Given the description of an element on the screen output the (x, y) to click on. 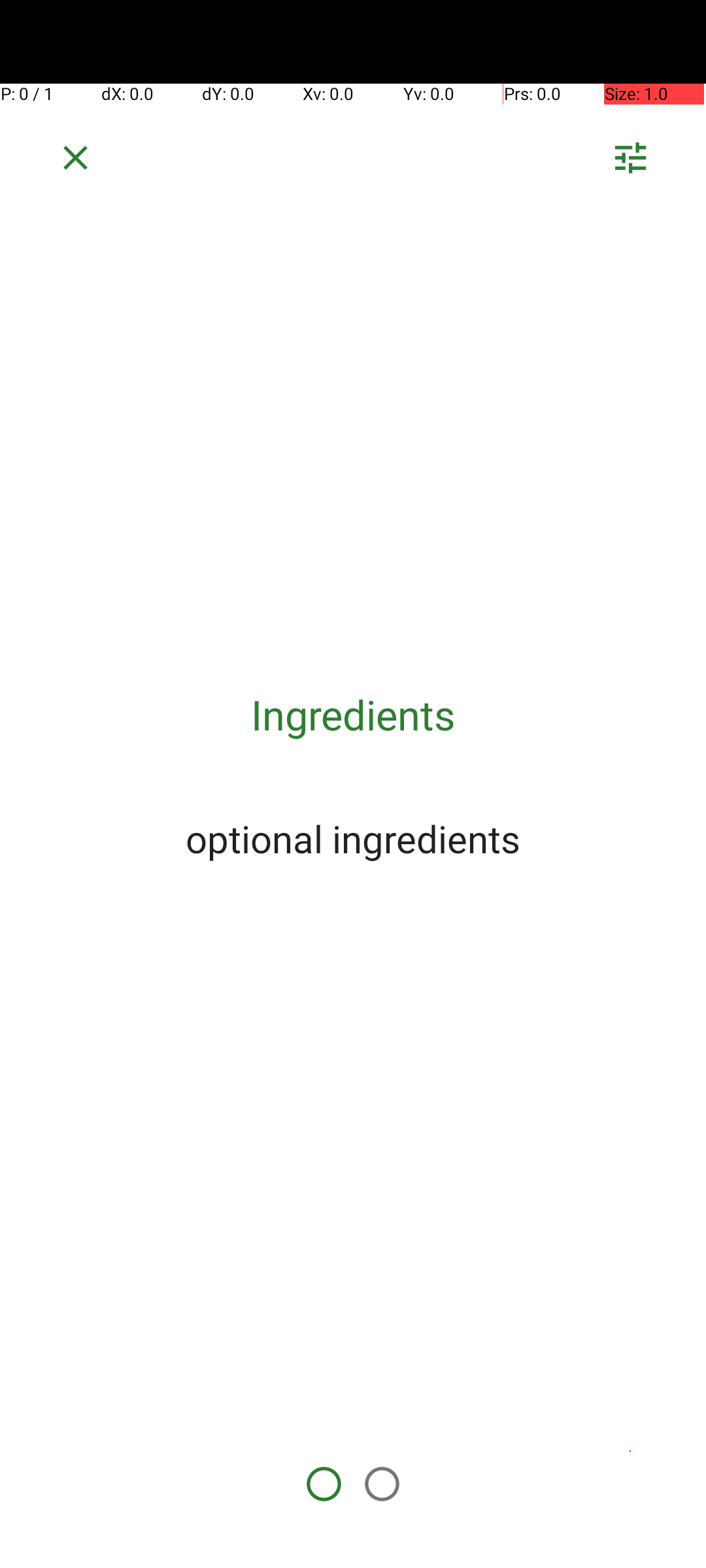
optional ingredients Element type: android.widget.TextView (353, 838)
